Given the description of an element on the screen output the (x, y) to click on. 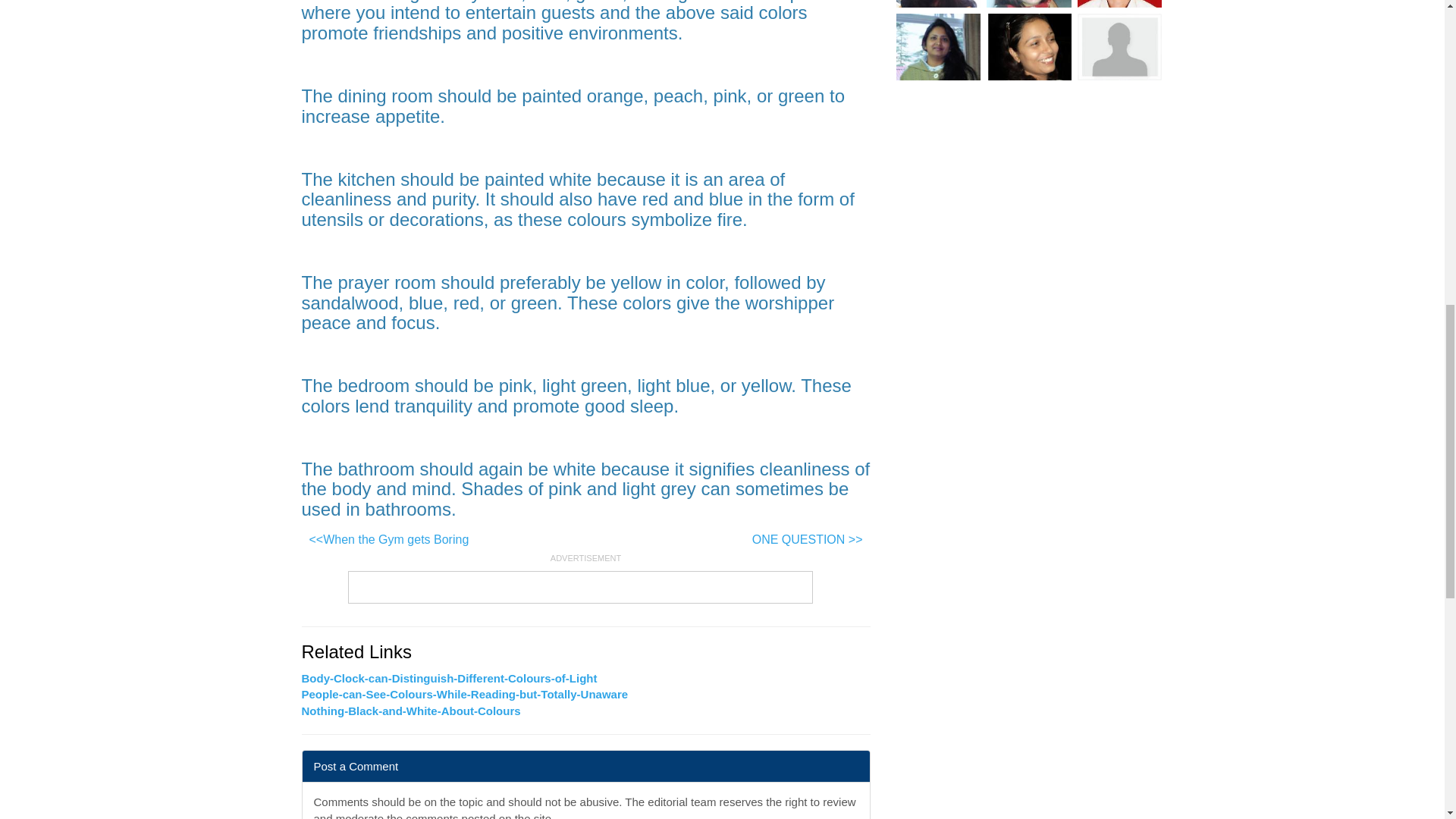
ONE QUESTION (807, 539)
Krishna Bora (938, 3)
Dr.Trupti (1029, 3)
People-can-See-Colours-While-Reading-but-Totally-Unaware (464, 694)
Nothing-Black-and-White-About-Colours (411, 710)
Lakshmi Gopal (938, 46)
When the Gym gets Boring (389, 539)
Antony76 (1119, 3)
aruna75 (1119, 46)
ThelmaSimon (1029, 46)
Body-Clock-can-Distinguish-Different-Colours-of-Light (448, 677)
